Given the description of an element on the screen output the (x, y) to click on. 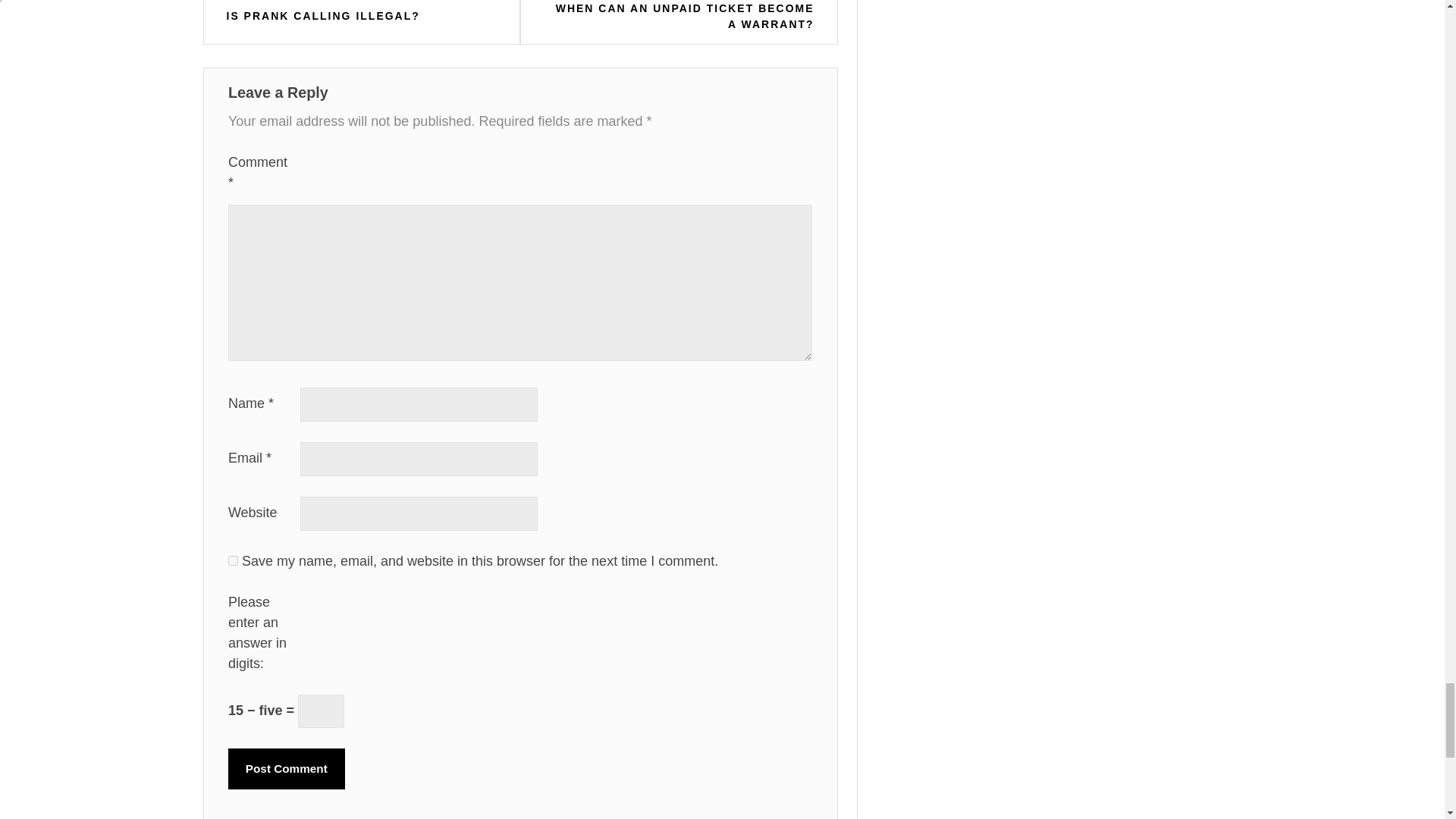
yes (233, 560)
Post Comment (286, 768)
IS PRANK CALLING ILLEGAL? (322, 16)
